Given the description of an element on the screen output the (x, y) to click on. 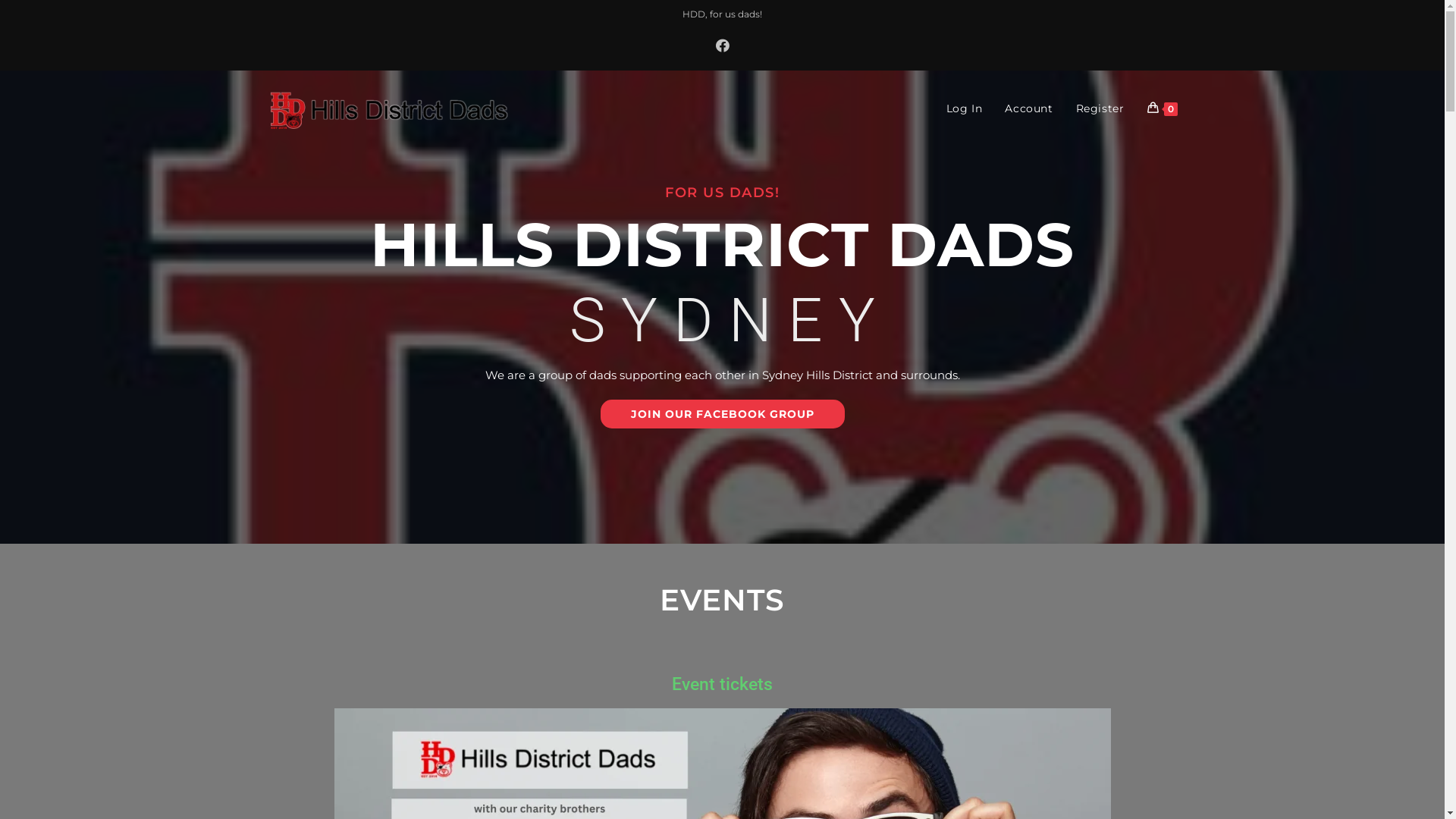
Account Element type: text (1028, 108)
0 Element type: text (1162, 108)
Register Element type: text (1099, 108)
JOIN OUR FACEBOOK GROUP Element type: text (722, 413)
Log In Element type: text (964, 108)
